Given the description of an element on the screen output the (x, y) to click on. 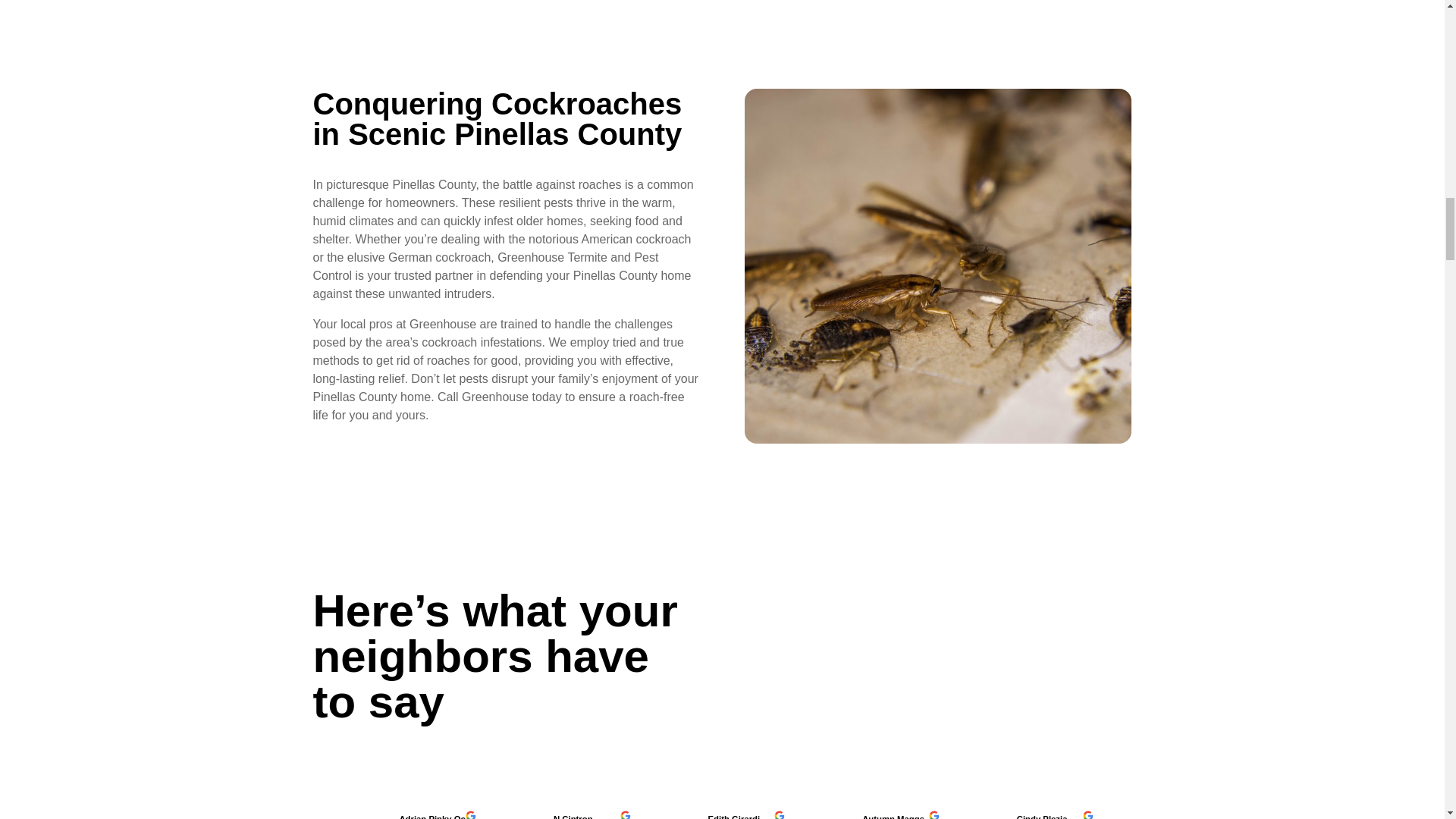
Cindy Plezia (1054, 816)
Michele Corcoran (1362, 816)
J Quallich (1208, 816)
Edith Girardi (745, 816)
N Cintron (590, 816)
Autumn Maggs (899, 816)
Adrian Pinky Ocasio (436, 816)
